Given the description of an element on the screen output the (x, y) to click on. 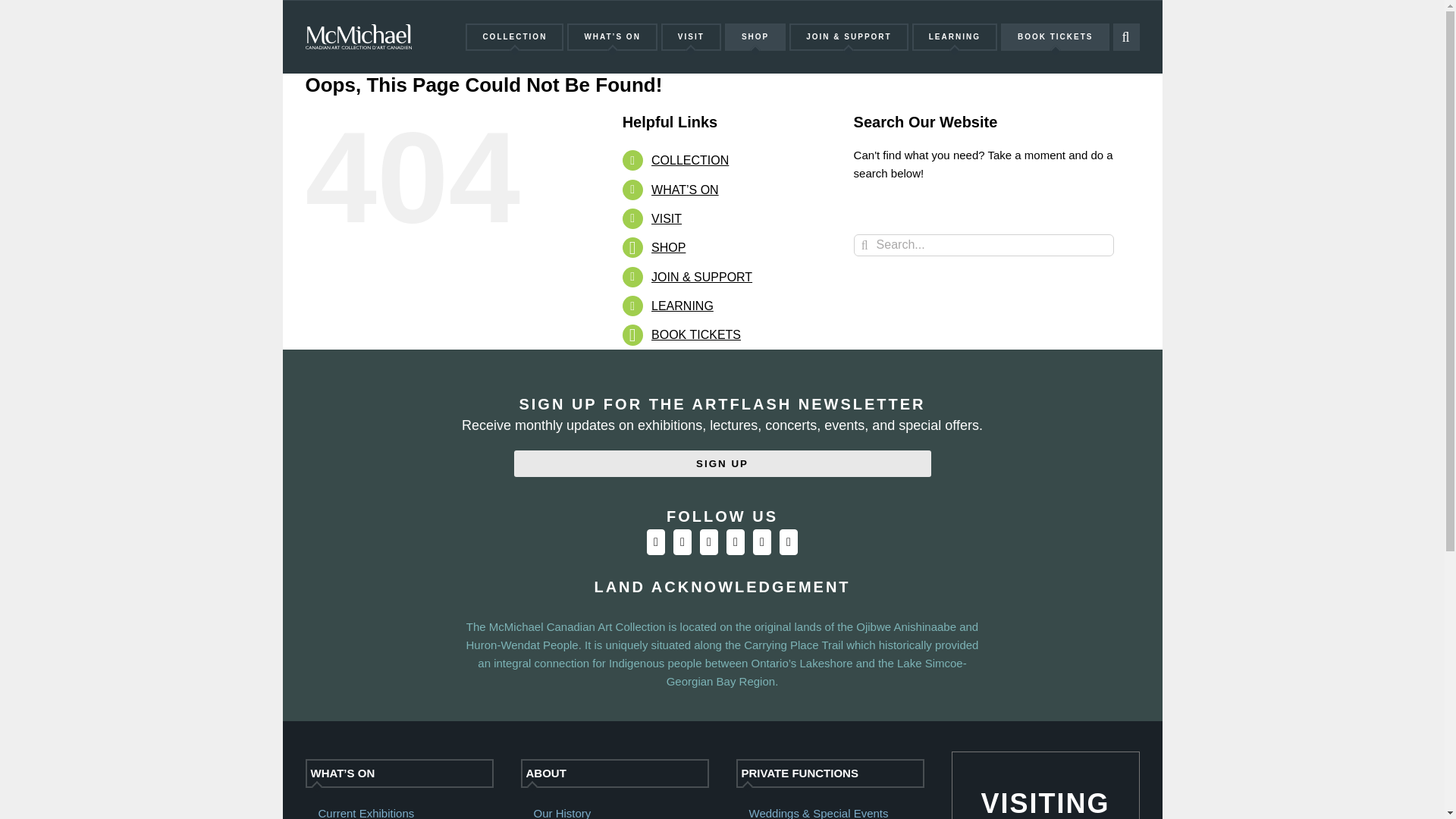
VISIT (690, 36)
SHOP (755, 36)
COLLECTION (514, 36)
